Given the description of an element on the screen output the (x, y) to click on. 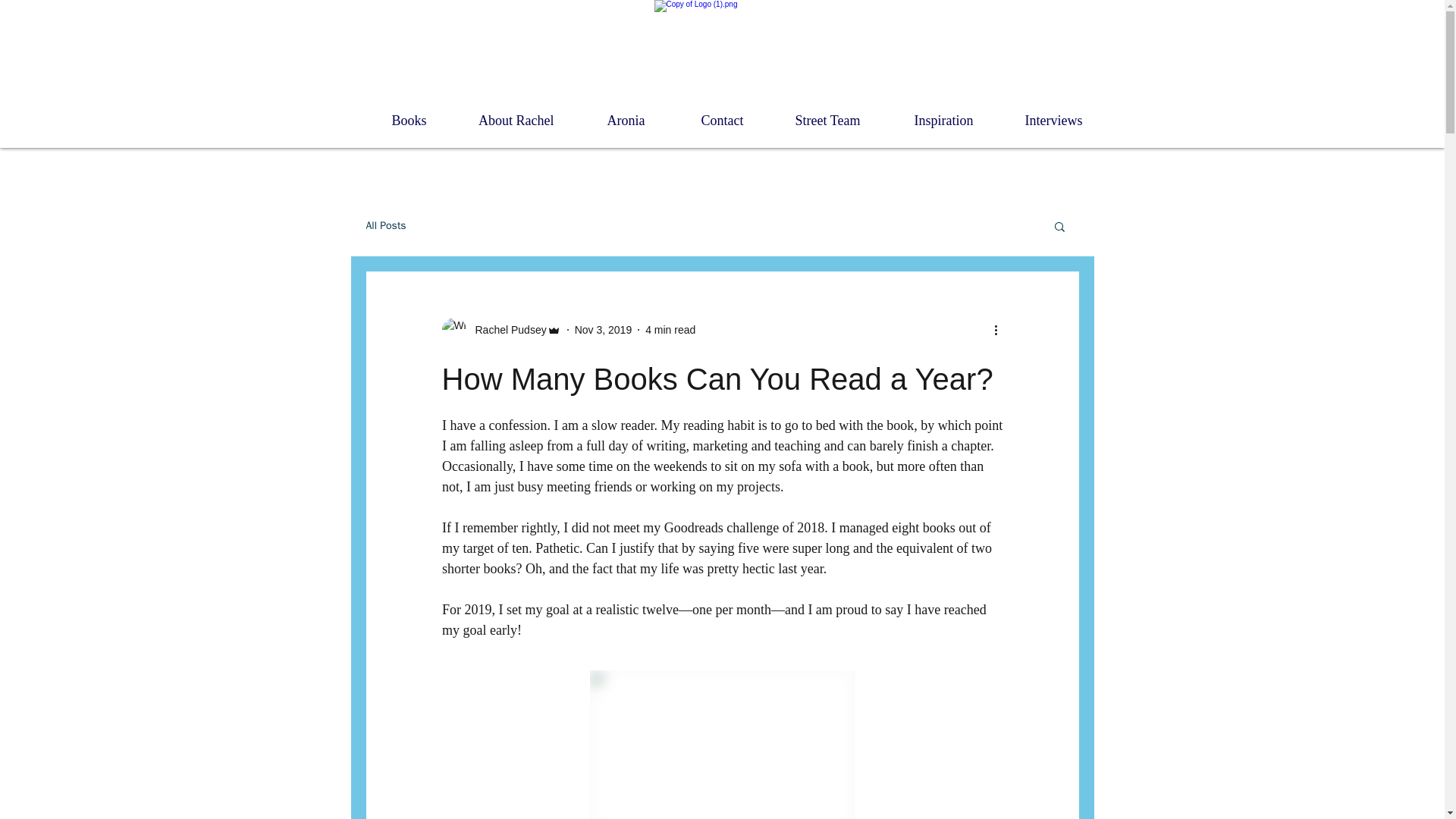
Inspiration (928, 120)
About Rachel (502, 120)
Street Team (813, 120)
Books (394, 120)
Contact (705, 120)
Nov 3, 2019 (603, 328)
Rachel Pudsey (505, 329)
Interviews (1038, 120)
Aronia (611, 120)
4 min read (670, 328)
